Given the description of an element on the screen output the (x, y) to click on. 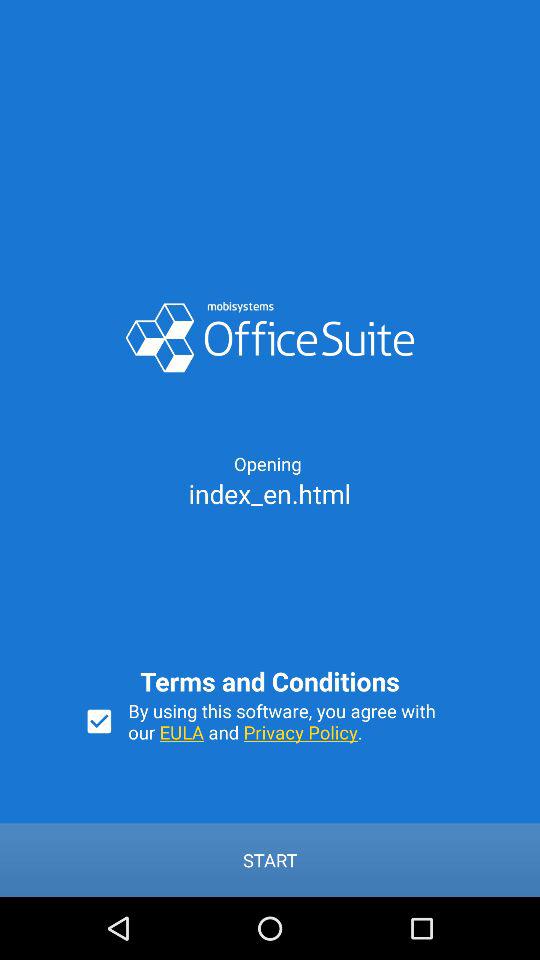
turn on icon above the start icon (292, 721)
